Given the description of an element on the screen output the (x, y) to click on. 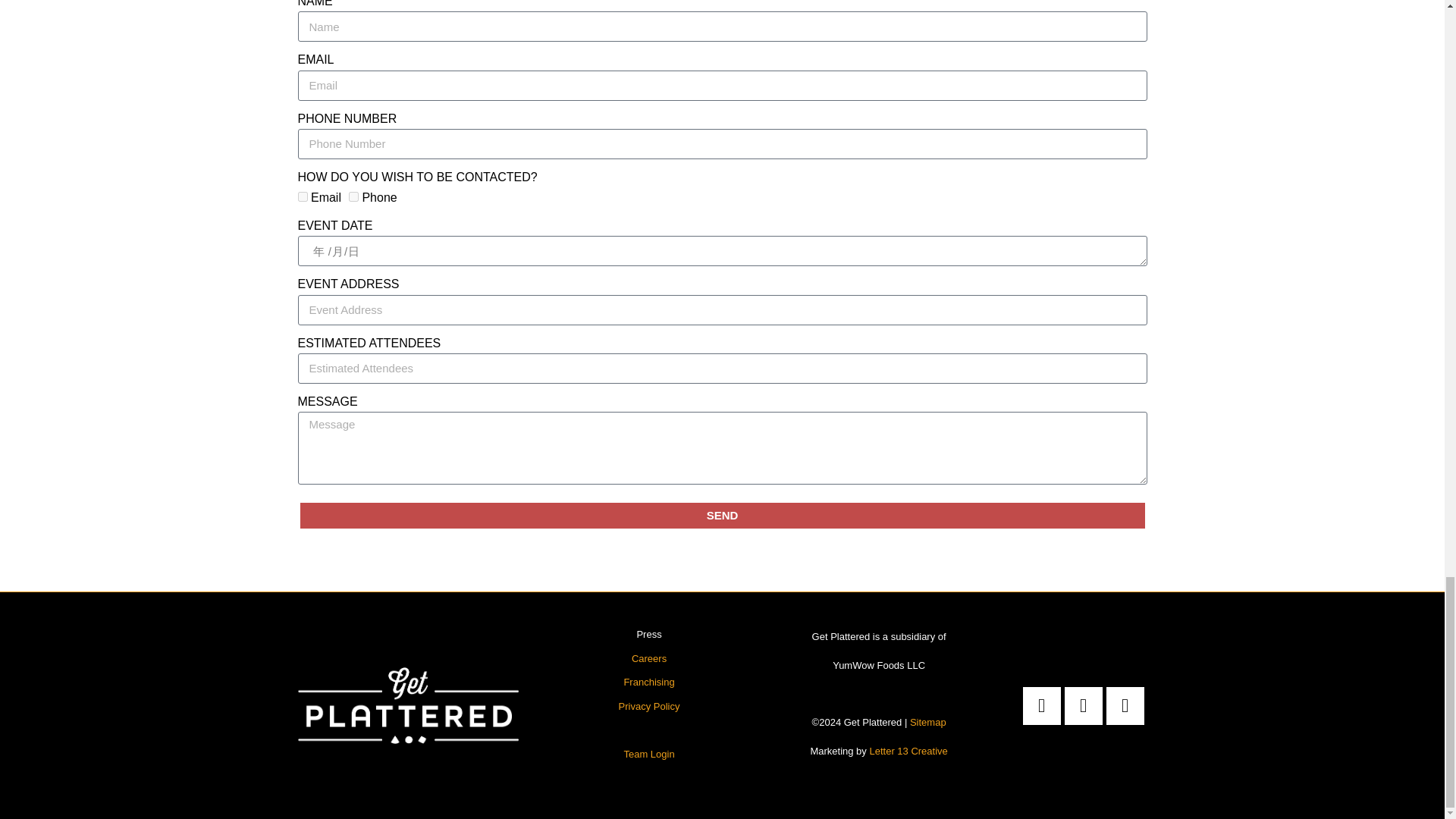
Email (302, 196)
Franchising (648, 681)
Team Login (648, 754)
Phone (353, 196)
Letter 13 Creative (908, 750)
SEND (722, 515)
Careers (648, 658)
Privacy Policy (648, 706)
Sitemap (928, 722)
